Given the description of an element on the screen output the (x, y) to click on. 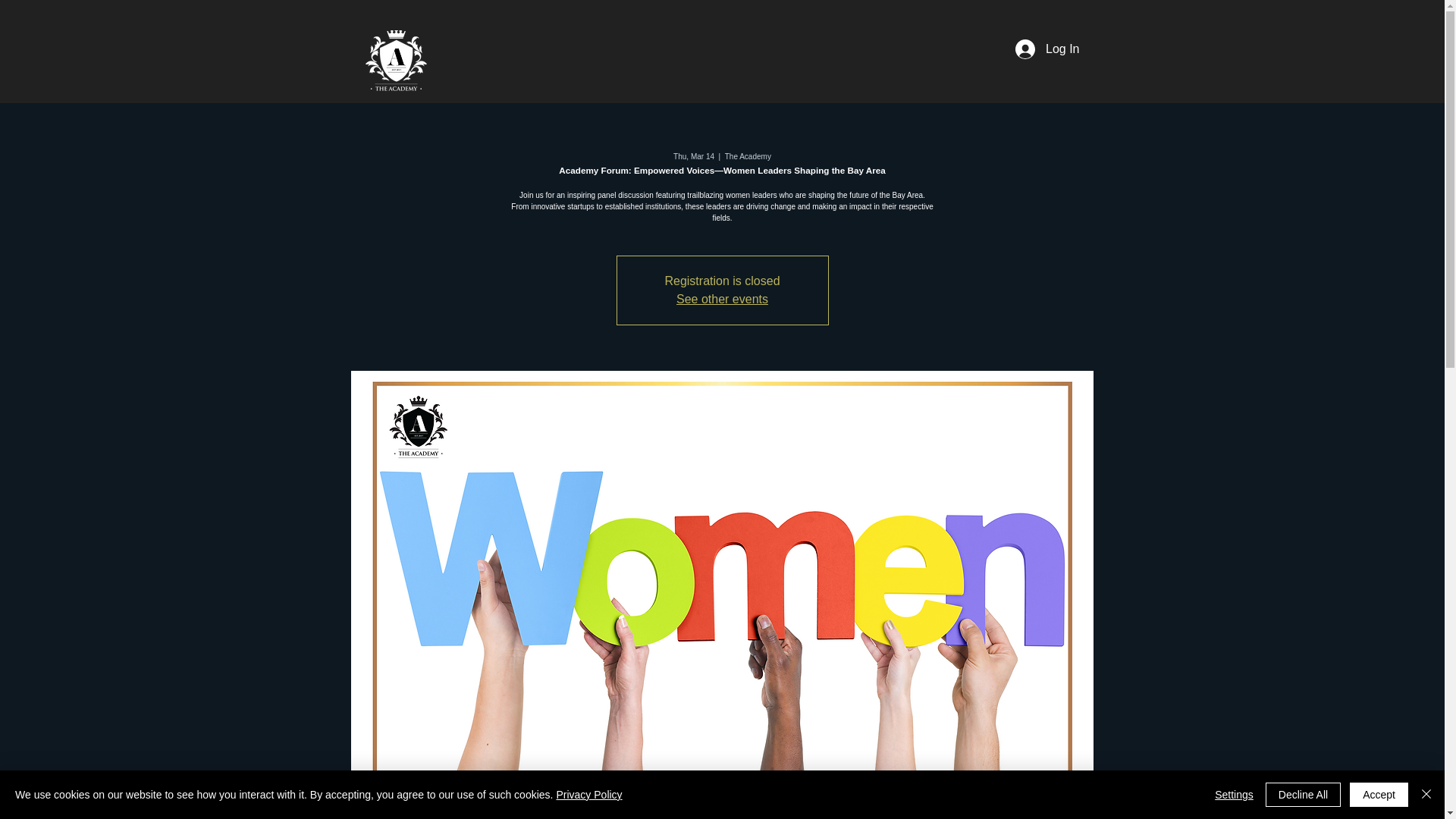
See other events (722, 298)
Log In (1046, 49)
